Given the description of an element on the screen output the (x, y) to click on. 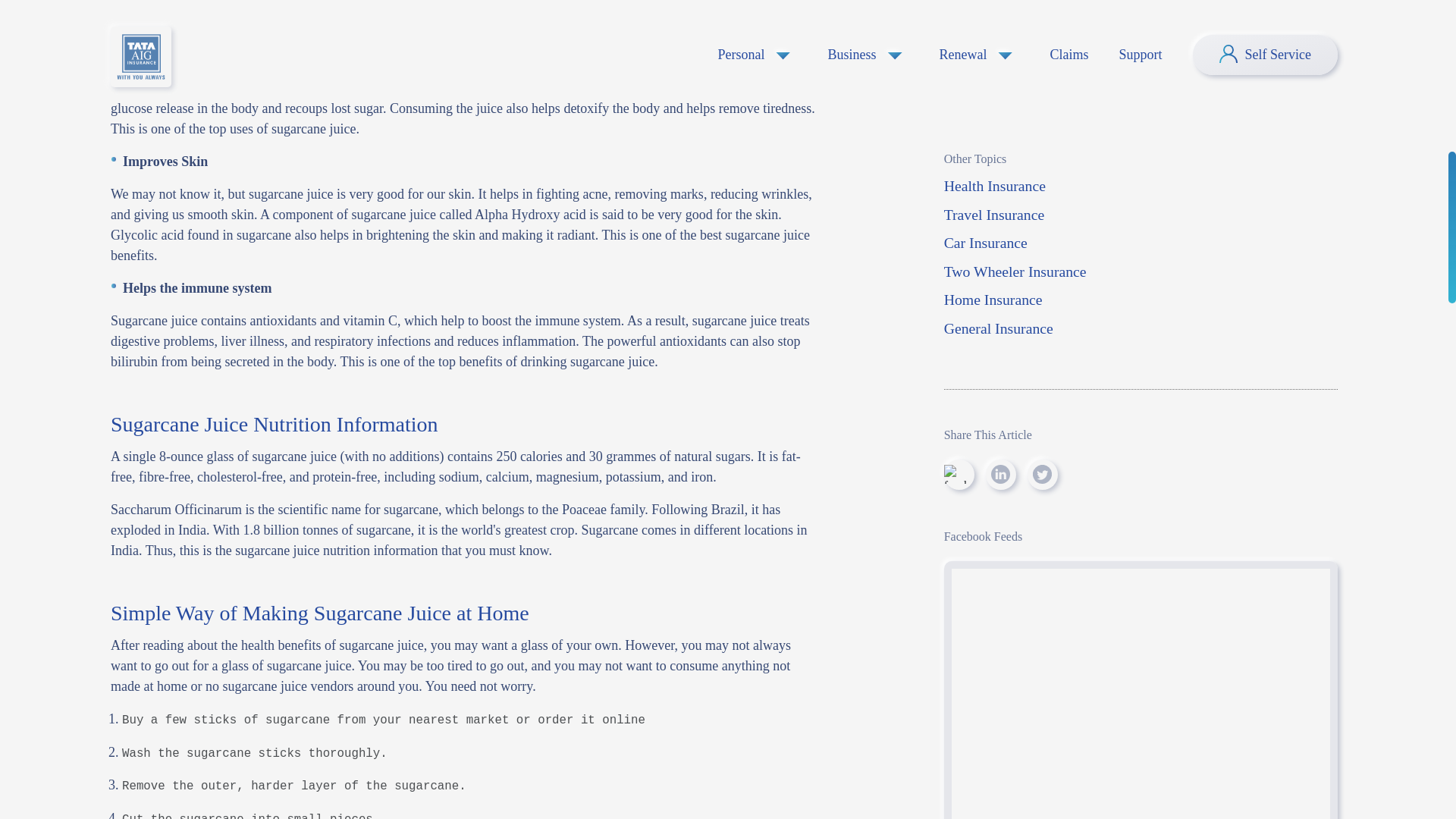
facebook feed (1141, 7)
